Given the description of an element on the screen output the (x, y) to click on. 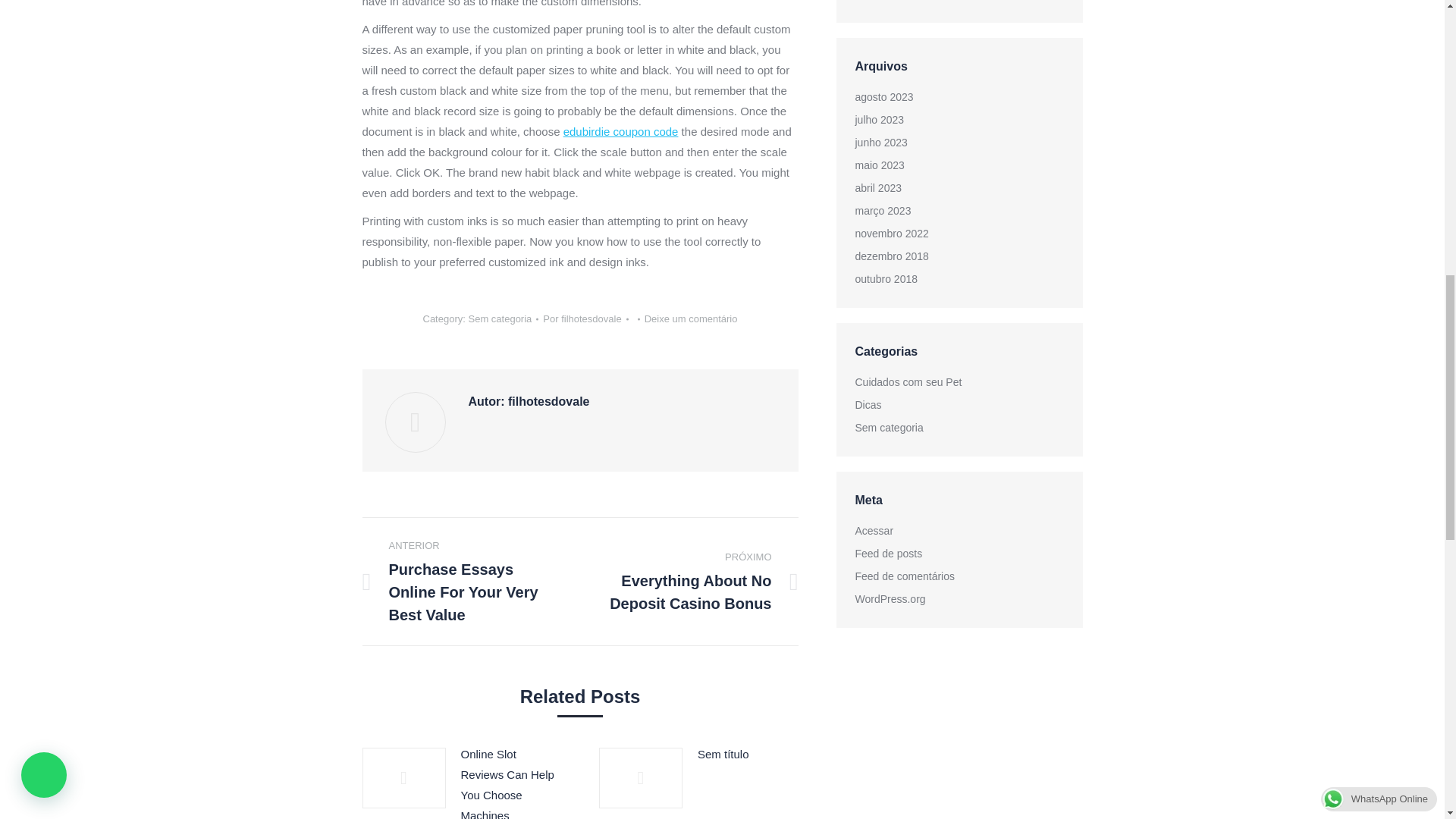
Por filhotesdovale (585, 318)
Sem categoria (499, 318)
Online Slot Reviews Can Help You Choose Machines (511, 781)
edubirdie coupon code (620, 131)
Ver todos as postagens de filhotesdovale (585, 318)
